Given the description of an element on the screen output the (x, y) to click on. 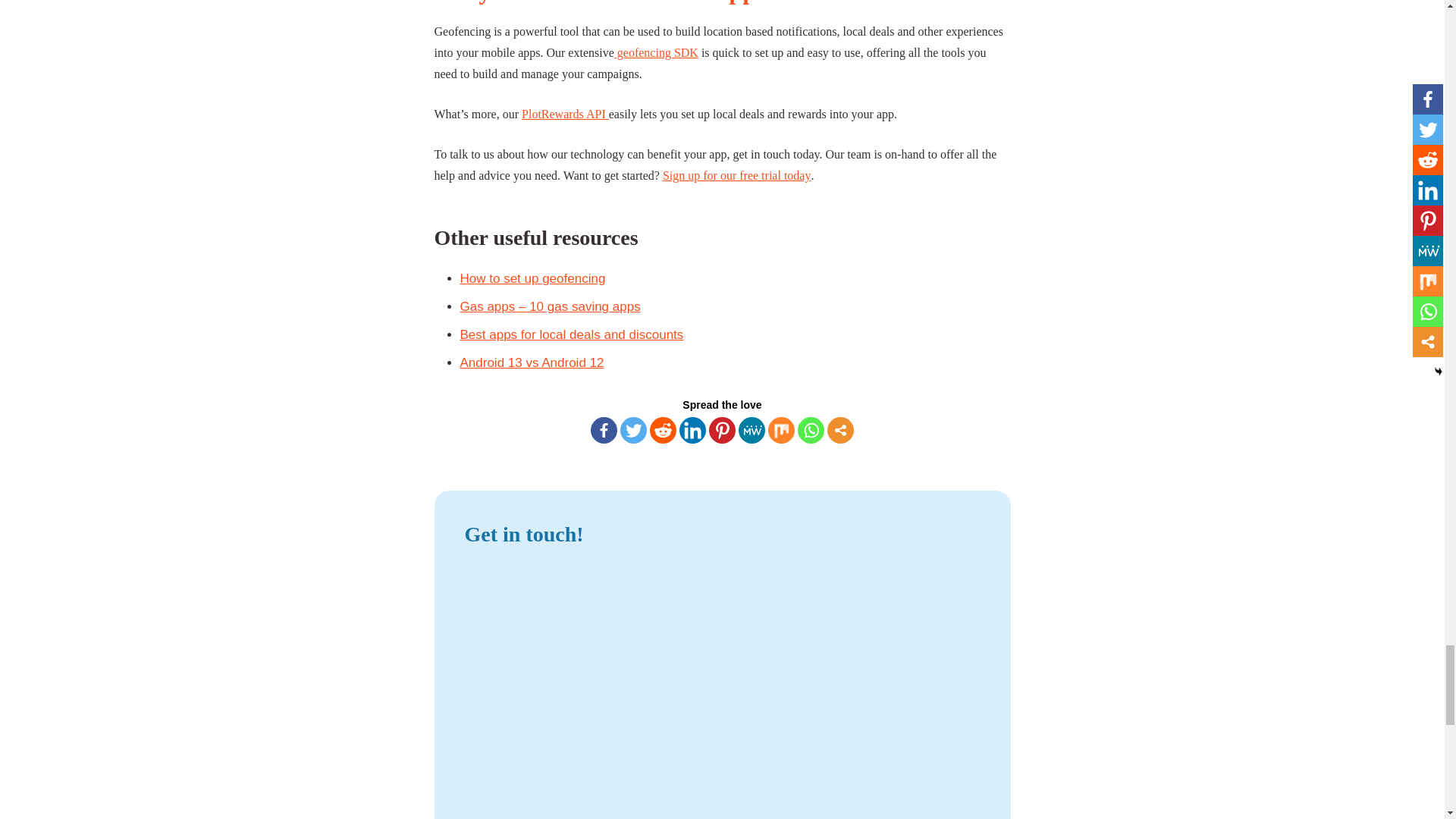
Whatsapp (810, 429)
Pinterest (722, 429)
Mix (781, 429)
LinkedIn (692, 429)
Twitter (633, 429)
Facebook (604, 429)
Reddit (663, 429)
MeWe (751, 429)
More (840, 429)
